Given the description of an element on the screen output the (x, y) to click on. 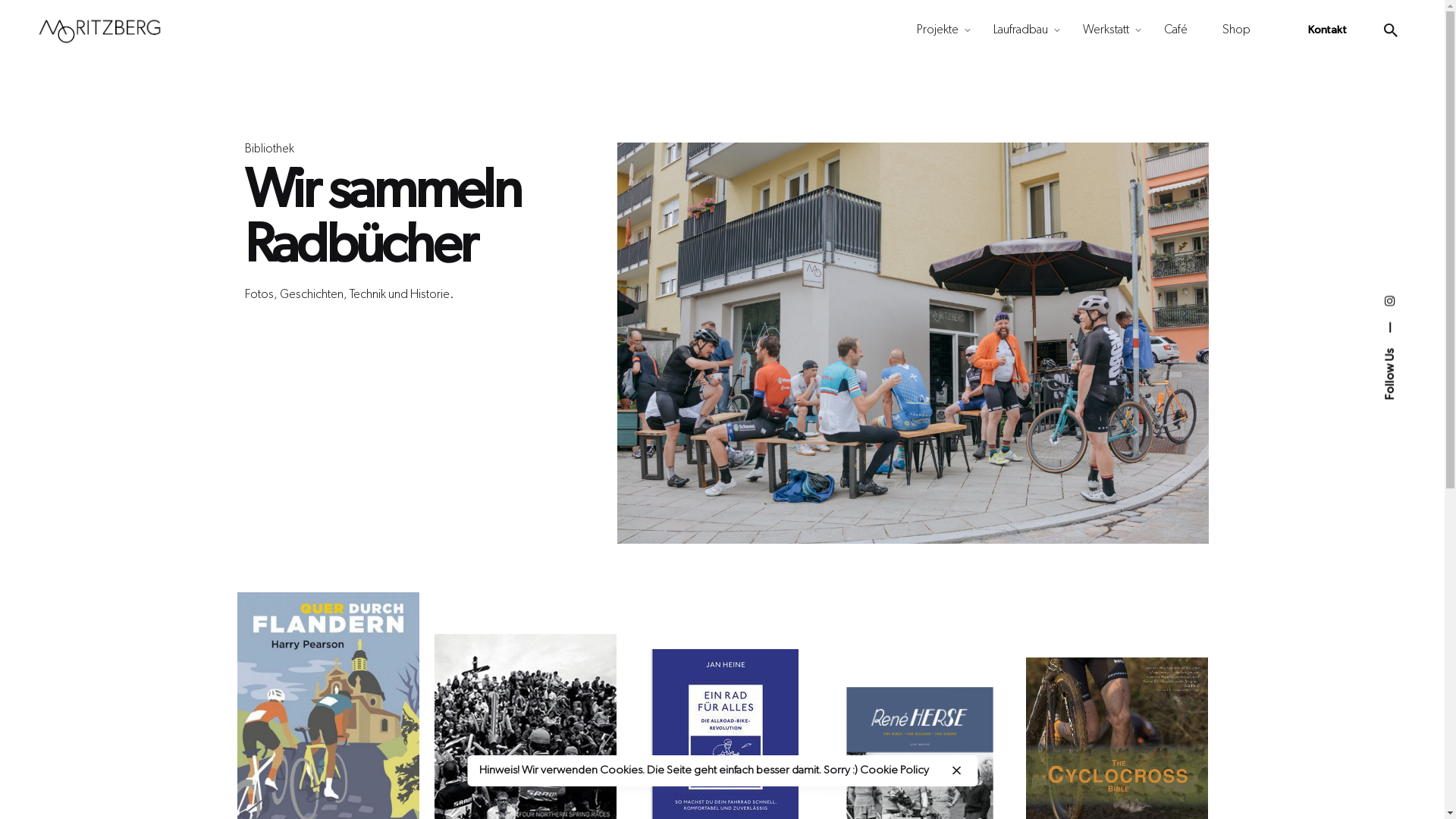
Laufradbau Element type: text (1020, 30)
Kontakt Element type: text (1327, 30)
Cookie Policy Element type: text (893, 769)
Werkstatt Element type: text (1105, 30)
Shop Element type: text (1235, 30)
Projekte Element type: text (937, 30)
